Given the description of an element on the screen output the (x, y) to click on. 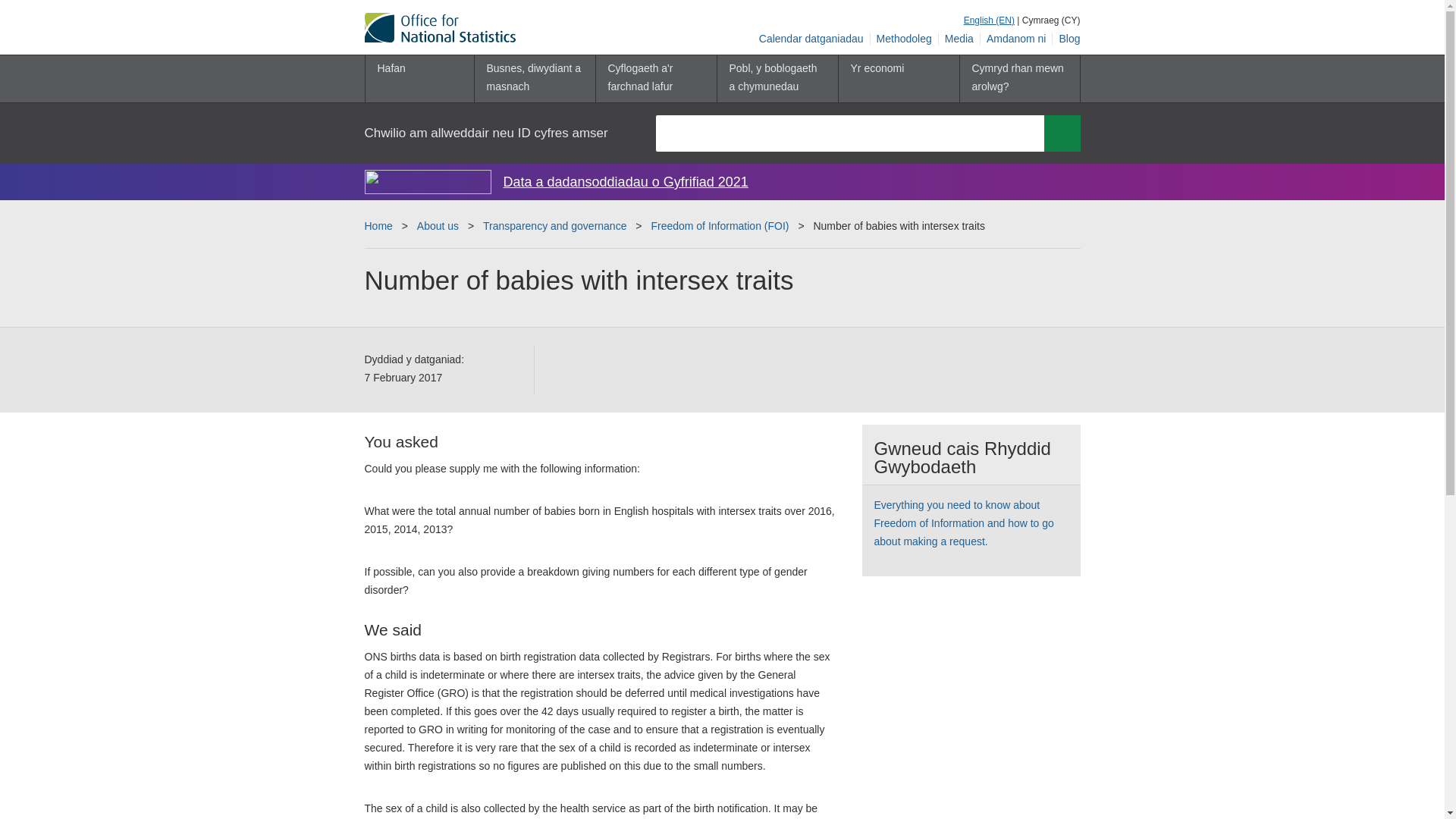
Busnes, diwydiant a masnach (533, 78)
Calendar datganiadau (811, 38)
Hafan (418, 78)
Cyflogaeth a'r farchnad lafur (655, 78)
Cyfrifiad 2021 (427, 181)
Media (959, 38)
Amdanom ni (1015, 38)
Blog (1066, 38)
Pobl, y boblogaeth a chymunedau (776, 78)
Methodoleg (904, 38)
